Given the description of an element on the screen output the (x, y) to click on. 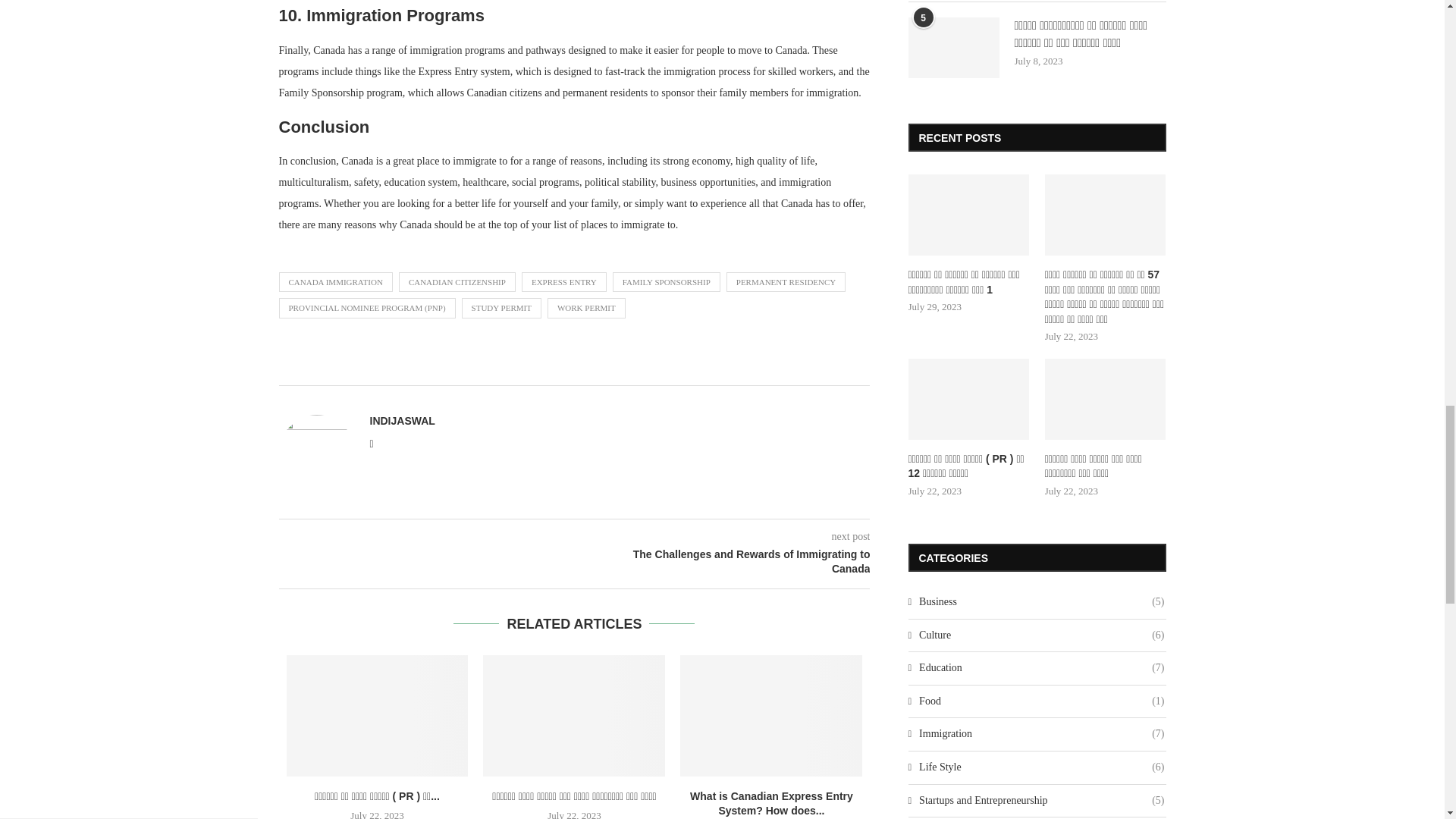
WORK PERMIT (586, 307)
What is Canadian Express Entry System? How does it work? (770, 715)
Author IndiJaswal (402, 420)
CANADIAN CITIZENSHIP (456, 281)
FAMILY SPONSORSHIP (666, 281)
STUDY PERMIT (501, 307)
PERMANENT RESIDENCY (785, 281)
EXPRESS ENTRY (564, 281)
CANADA IMMIGRATION (336, 281)
